Given the description of an element on the screen output the (x, y) to click on. 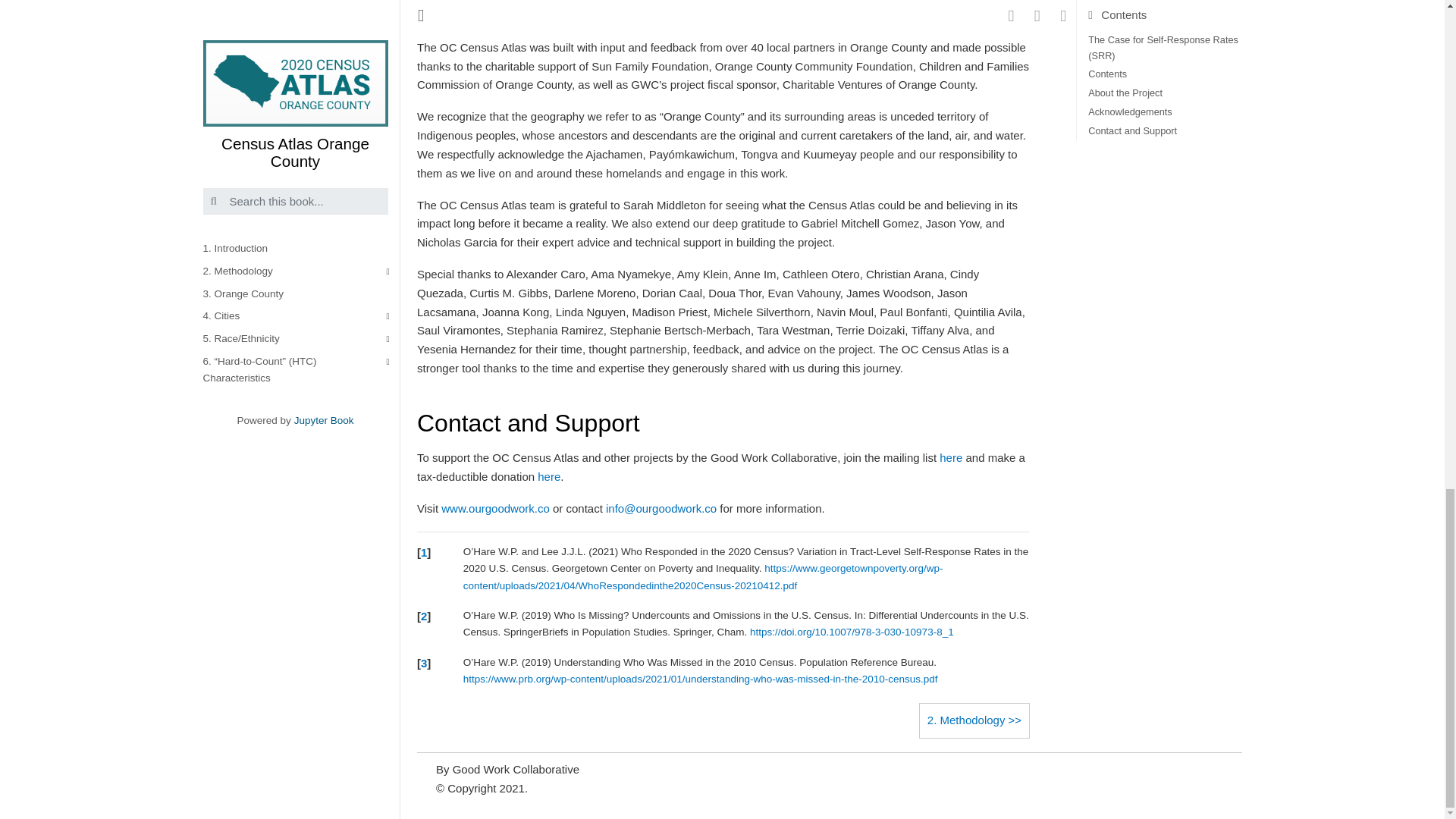
next page (973, 720)
